Given the description of an element on the screen output the (x, y) to click on. 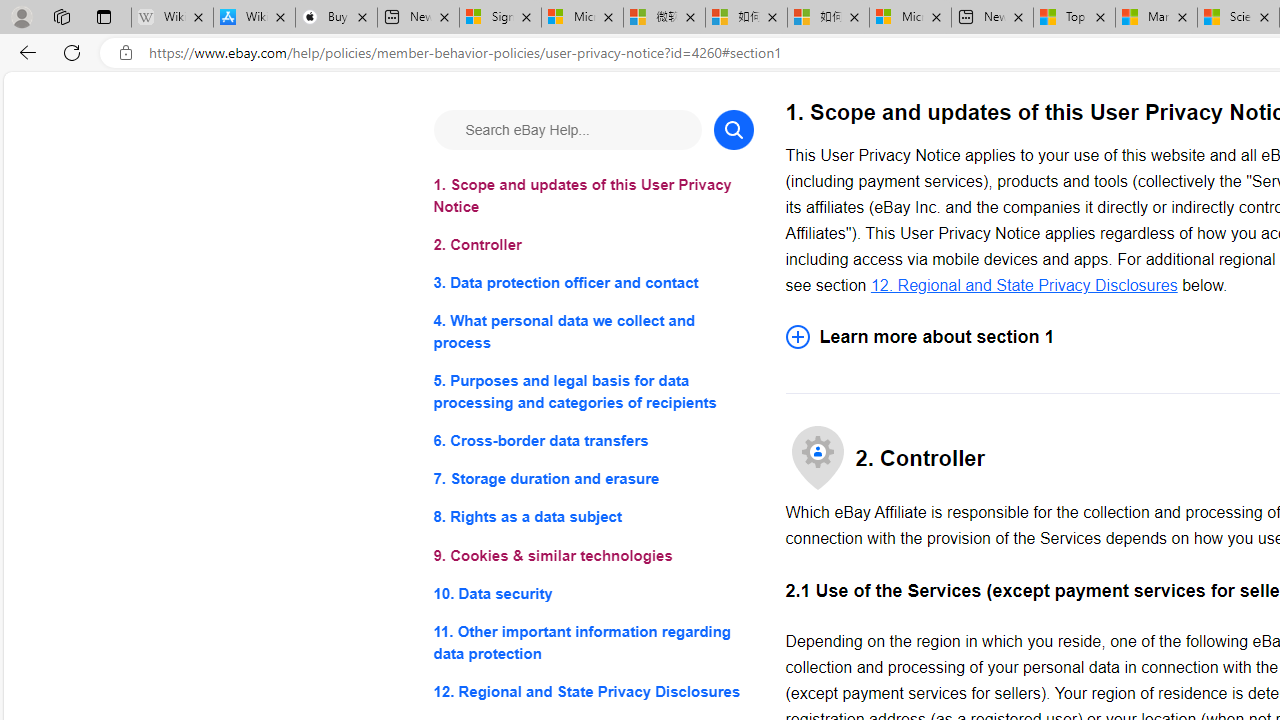
2. Controller (592, 245)
3. Data protection officer and contact (592, 283)
9. Cookies & similar technologies (592, 555)
12. Regional and State Privacy Disclosures (592, 690)
7. Storage duration and erasure (592, 479)
Microsoft account | Account Checkup (910, 17)
1. Scope and updates of this User Privacy Notice (592, 196)
9. Cookies & similar technologies (592, 555)
6. Cross-border data transfers (592, 440)
12. Regional and State Privacy Disclosures (1023, 284)
